Given the description of an element on the screen output the (x, y) to click on. 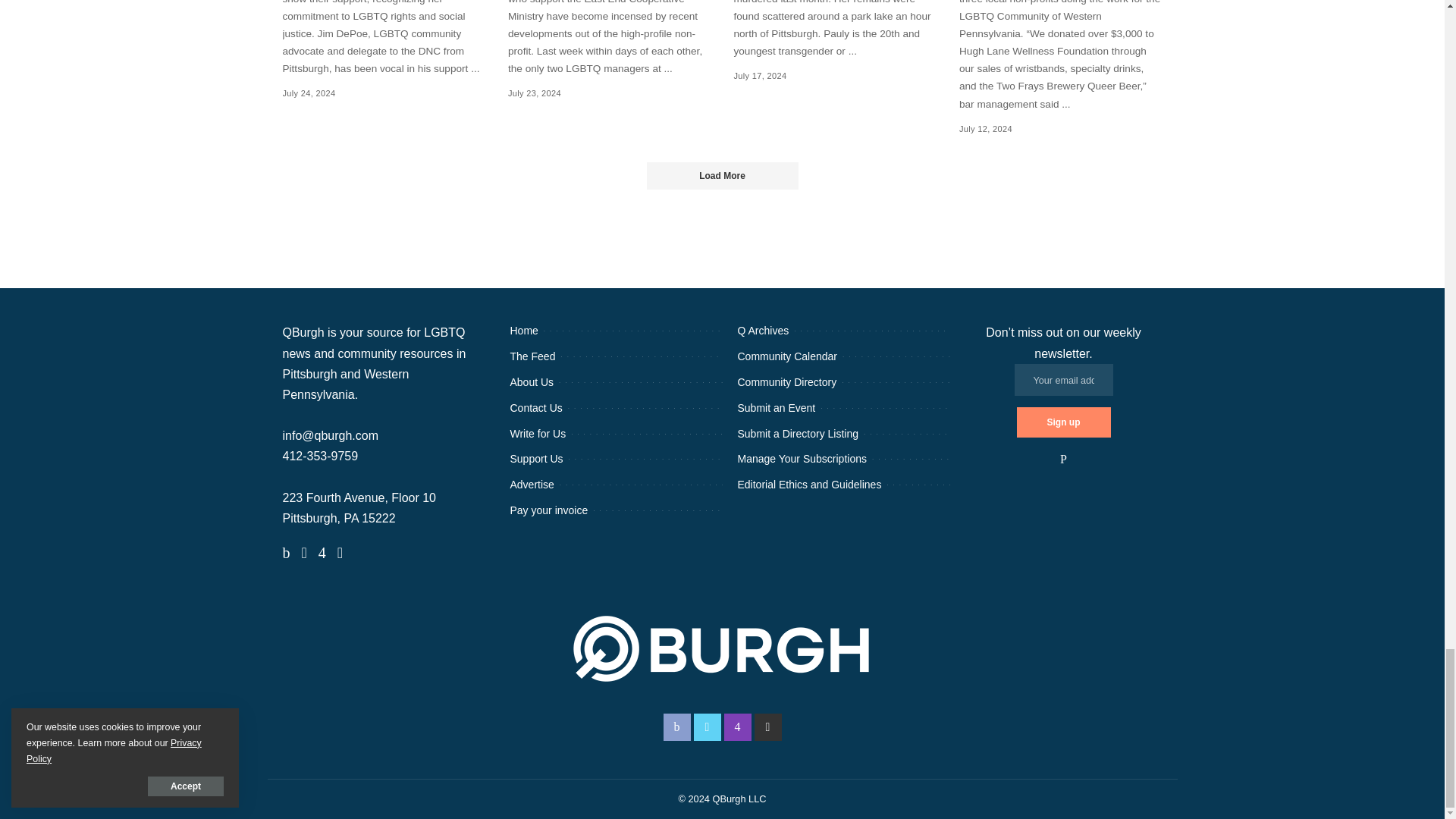
Sign up (1062, 422)
